Given the description of an element on the screen output the (x, y) to click on. 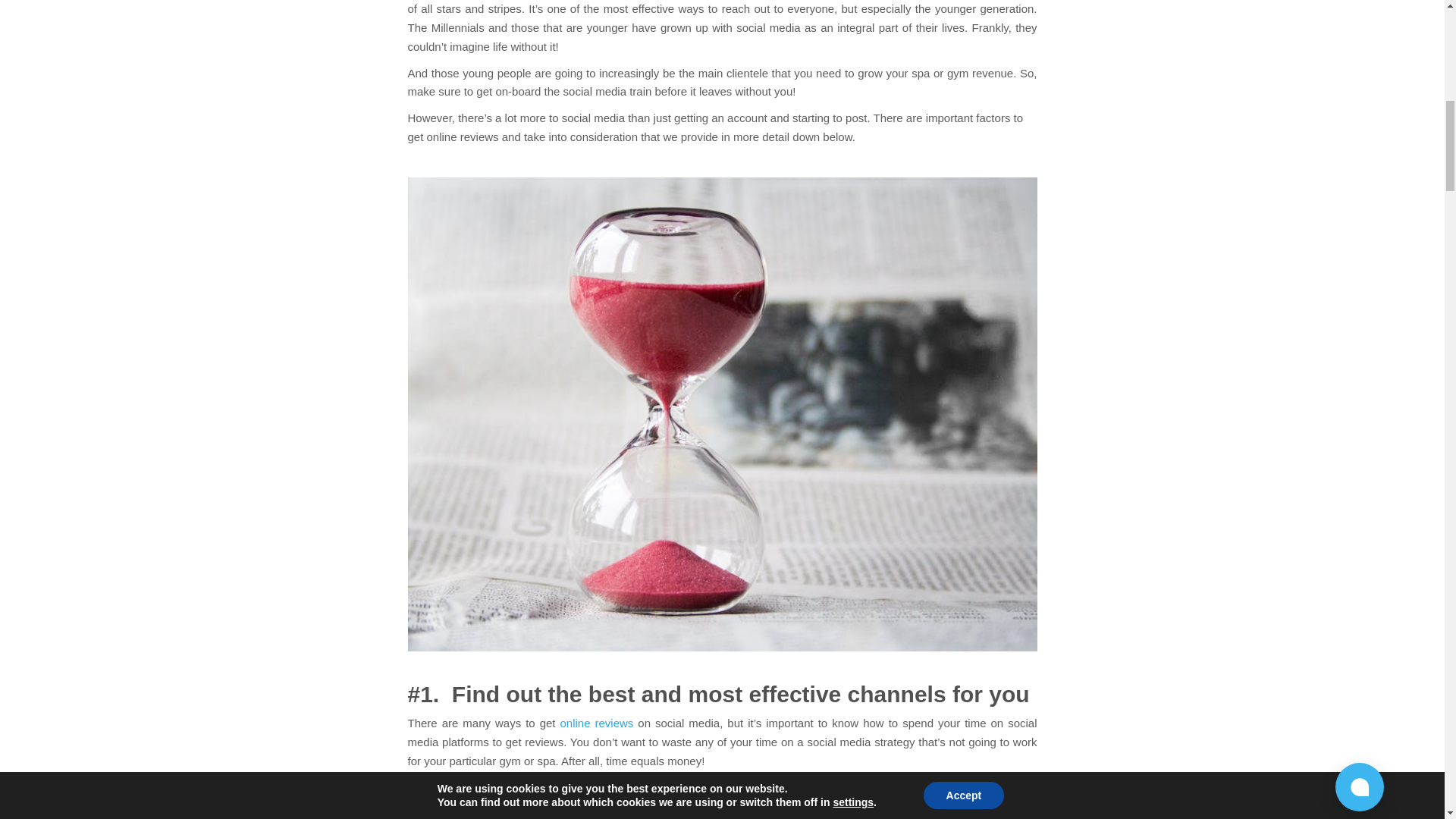
online reviews (596, 722)
